Given the description of an element on the screen output the (x, y) to click on. 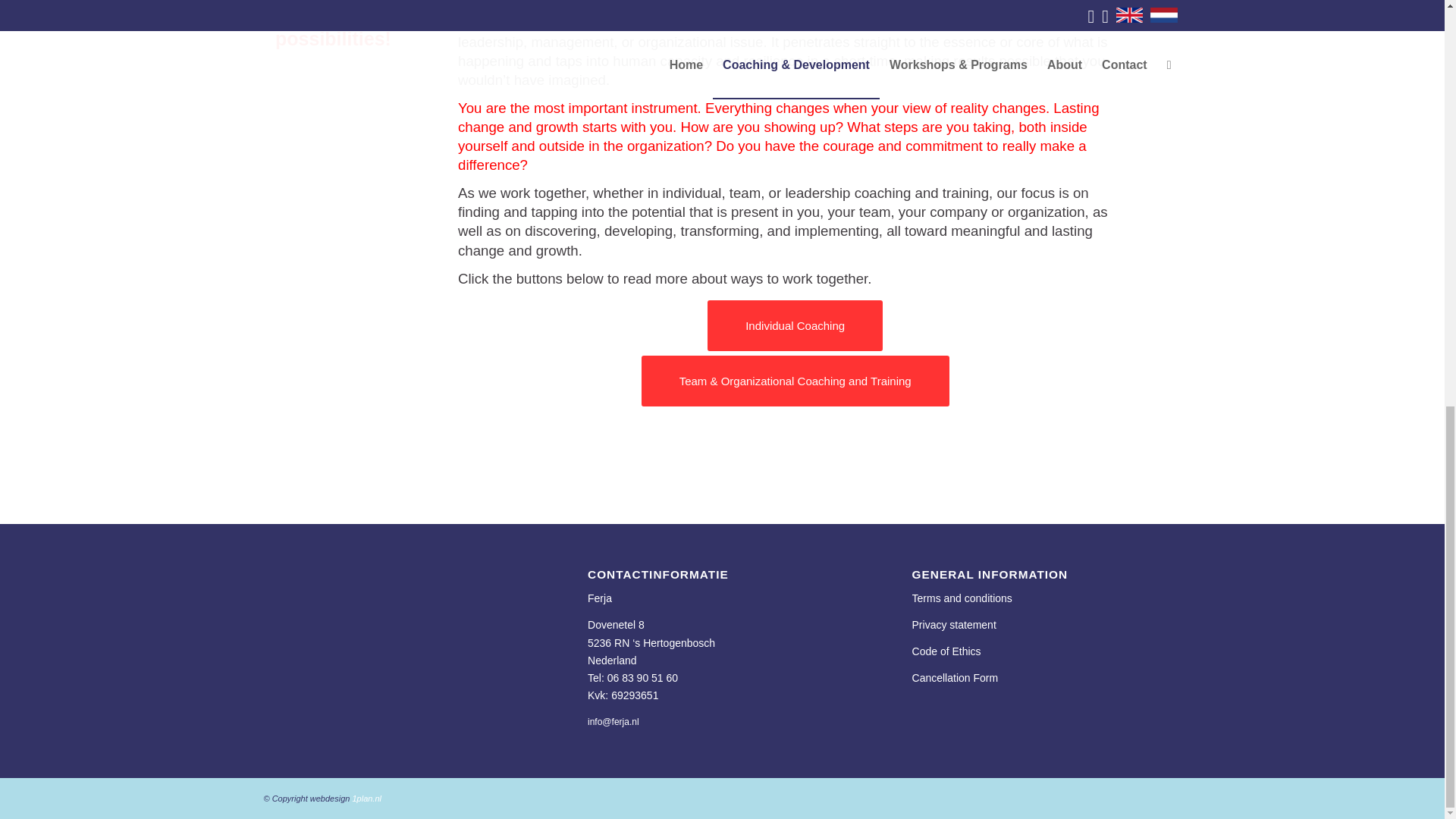
Cancellation Form (955, 677)
Privacy statement (953, 624)
Code of Ethics (946, 651)
Terms and conditions (961, 598)
Individual Coaching (794, 325)
1plan.nl (366, 798)
